Given the description of an element on the screen output the (x, y) to click on. 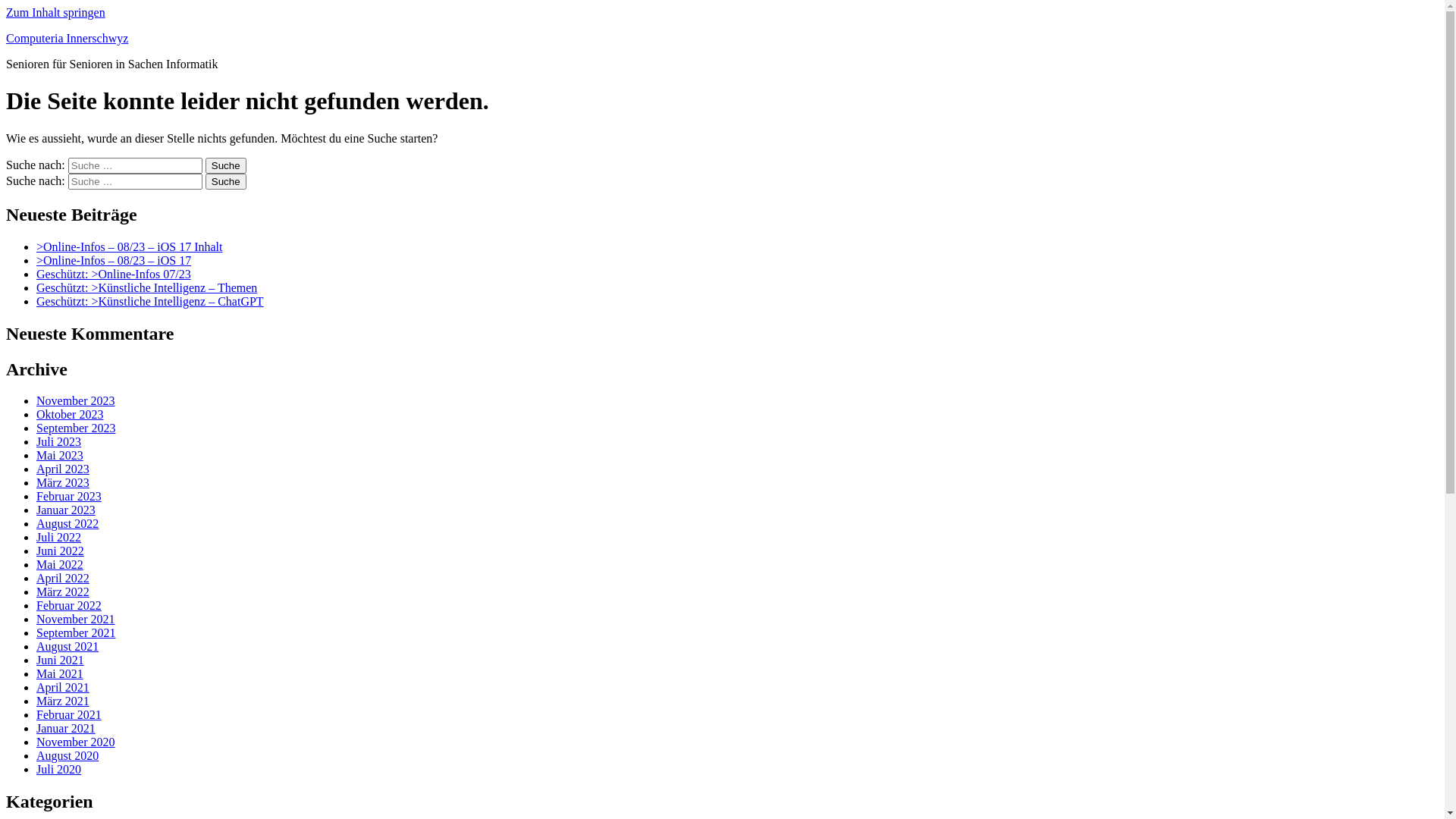
August 2021 Element type: text (67, 646)
Zum Inhalt springen Element type: text (55, 12)
Februar 2022 Element type: text (68, 605)
Juni 2022 Element type: text (60, 550)
September 2021 Element type: text (75, 632)
April 2021 Element type: text (62, 686)
April 2023 Element type: text (62, 468)
Suche Element type: text (225, 181)
Juli 2023 Element type: text (58, 441)
Suche Element type: text (225, 165)
Februar 2023 Element type: text (68, 495)
Juli 2020 Element type: text (58, 768)
August 2022 Element type: text (67, 523)
August 2020 Element type: text (67, 755)
Februar 2021 Element type: text (68, 714)
November 2023 Element type: text (75, 400)
September 2023 Element type: text (75, 427)
Juni 2021 Element type: text (60, 659)
Oktober 2023 Element type: text (69, 413)
Mai 2021 Element type: text (59, 673)
Januar 2023 Element type: text (65, 509)
Juli 2022 Element type: text (58, 536)
Mai 2023 Element type: text (59, 454)
November 2021 Element type: text (75, 618)
April 2022 Element type: text (62, 577)
Computeria Innerschwyz Element type: text (67, 37)
Januar 2021 Element type: text (65, 727)
Mai 2022 Element type: text (59, 564)
November 2020 Element type: text (75, 741)
